Given the description of an element on the screen output the (x, y) to click on. 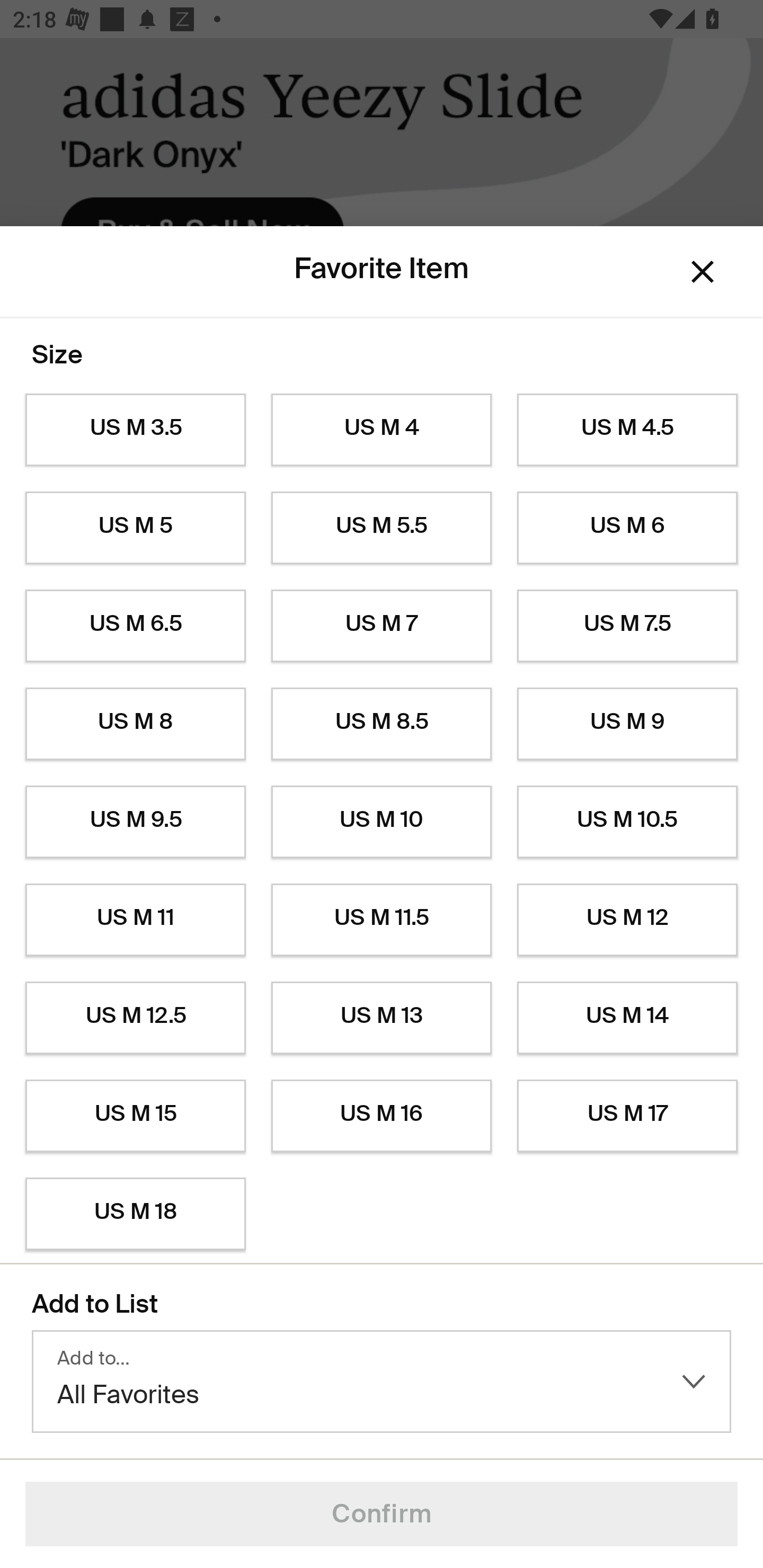
Dismiss (702, 271)
US M 3.5 (135, 430)
US M 4 (381, 430)
US M 4.5 (627, 430)
US M 5 (135, 527)
US M 5.5 (381, 527)
US M 6 (627, 527)
US M 6.5 (135, 626)
US M 7 (381, 626)
US M 7.5 (627, 626)
US M 8 (135, 724)
US M 8.5 (381, 724)
US M 9 (627, 724)
US M 9.5 (135, 822)
US M 10 (381, 822)
US M 10.5 (627, 822)
US M 11 (135, 919)
US M 11.5 (381, 919)
US M 12 (627, 919)
US M 12.5 (135, 1018)
US M 13 (381, 1018)
US M 14 (627, 1018)
US M 15 (135, 1116)
US M 16 (381, 1116)
US M 17 (627, 1116)
US M 18 (135, 1214)
Add to… All Favorites (381, 1381)
Confirm (381, 1513)
